Given the description of an element on the screen output the (x, y) to click on. 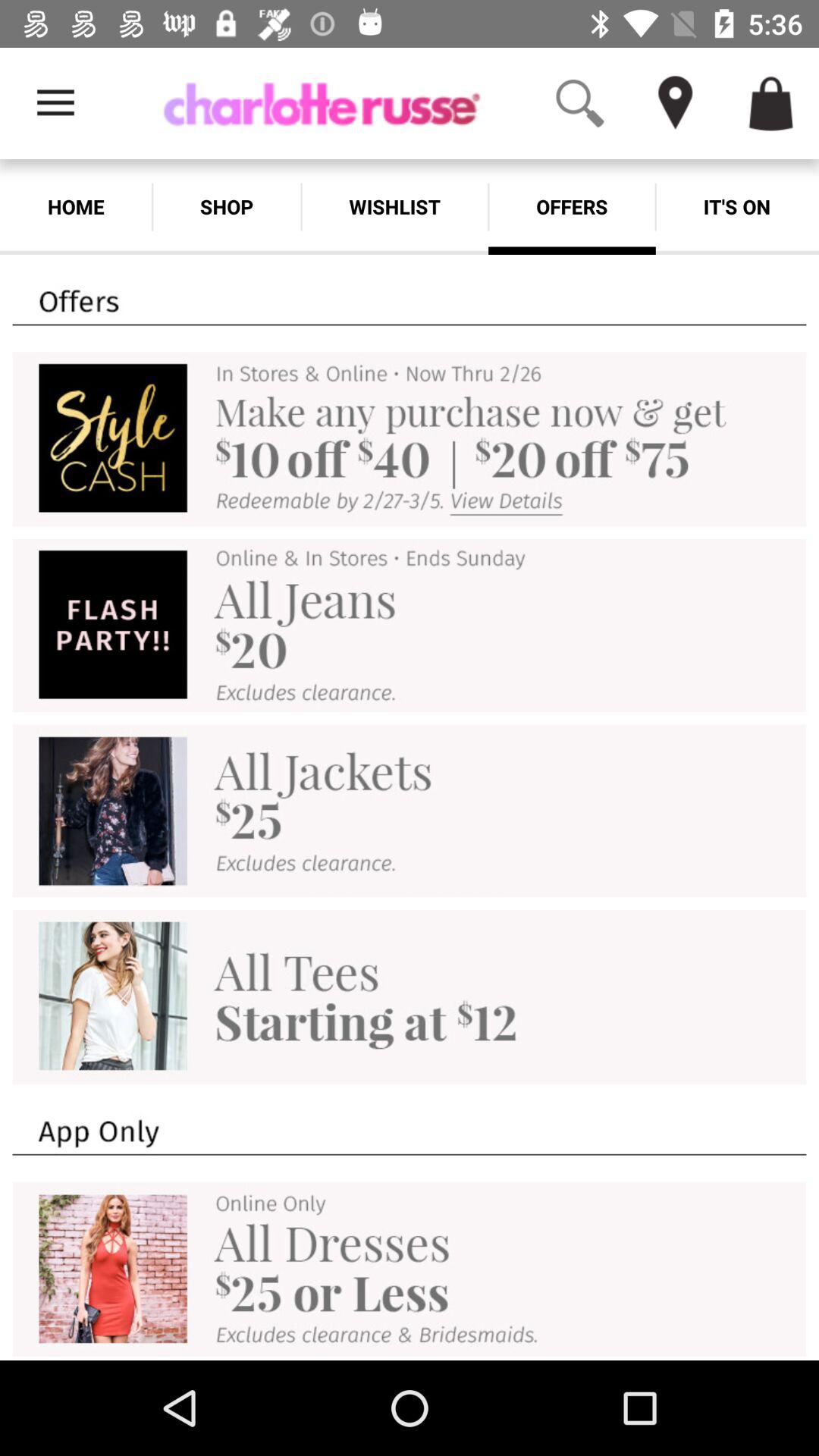
click icon to the left of the offers item (394, 206)
